Given the description of an element on the screen output the (x, y) to click on. 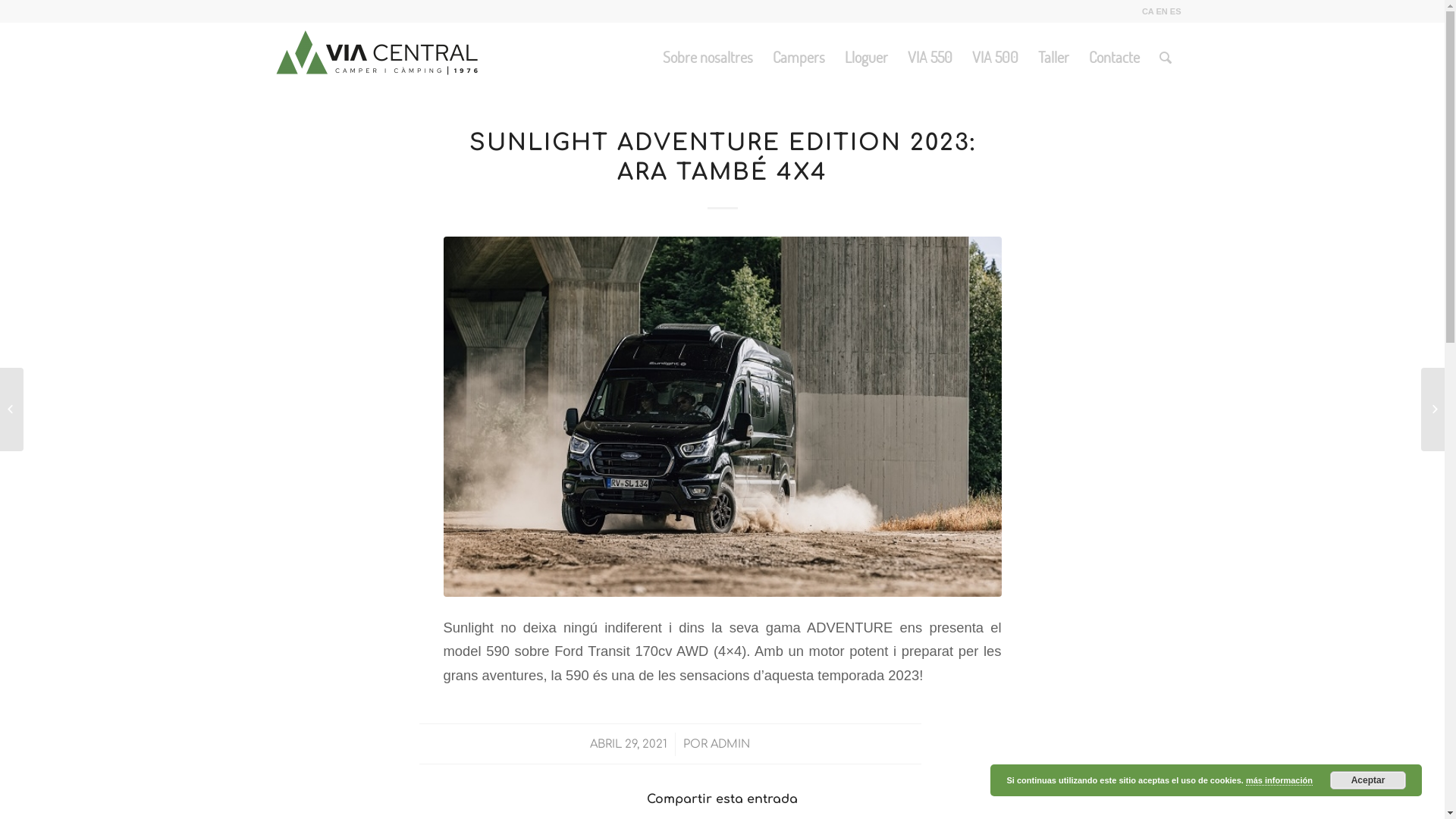
ES Element type: text (1175, 10)
Taller Element type: text (1053, 56)
Contacte Element type: text (1113, 56)
Sobre nosaltres Element type: text (707, 56)
CA Element type: text (1147, 10)
Lloguer Element type: text (865, 56)
ADMIN Element type: text (729, 743)
VIA 550 Element type: text (929, 56)
EN Element type: text (1161, 10)
VIA 500 Element type: text (994, 56)
Campers Element type: text (798, 56)
Aceptar Element type: text (1367, 780)
